Given the description of an element on the screen output the (x, y) to click on. 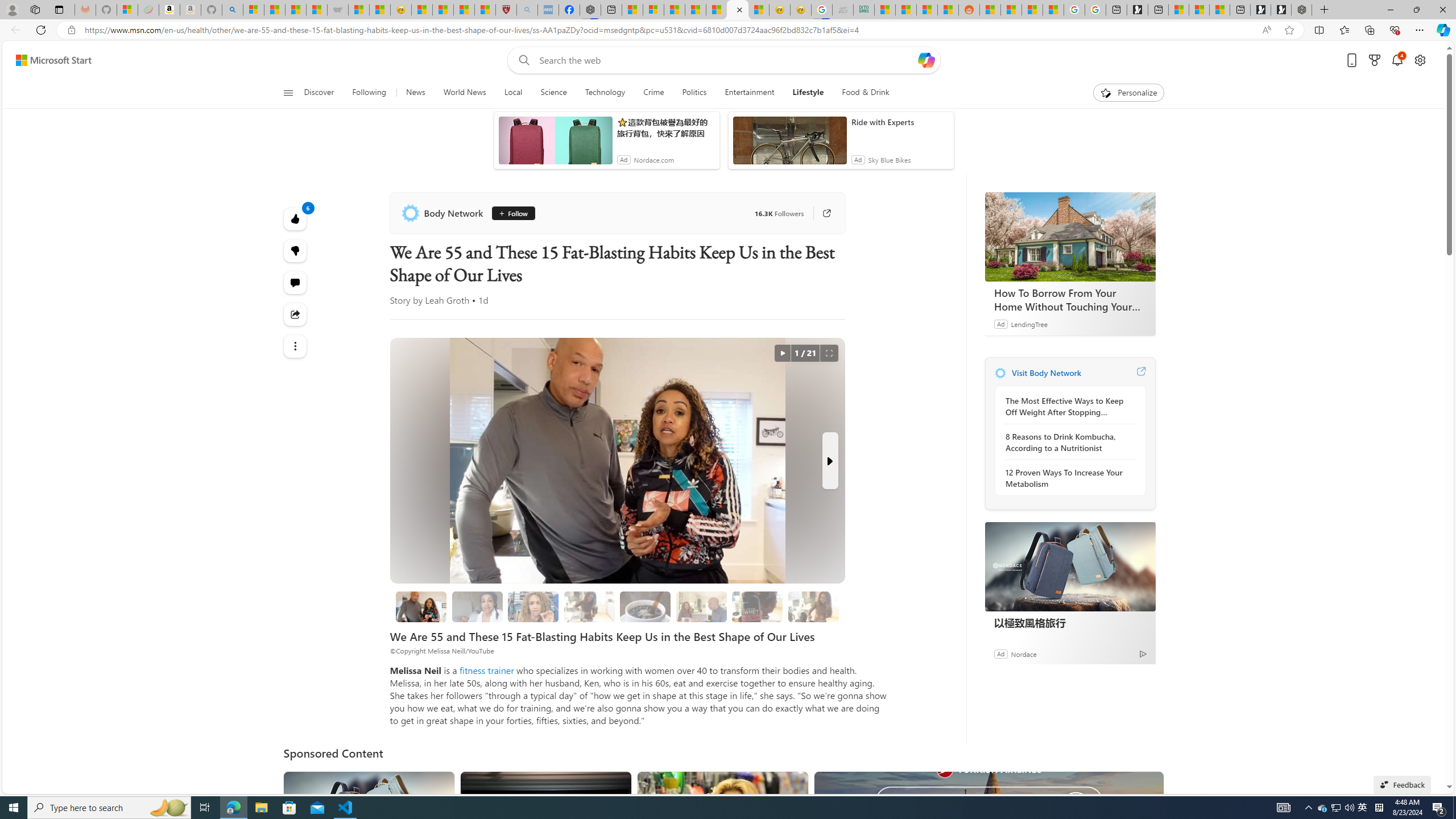
Class: at-item (295, 345)
Go to publisher's site (820, 213)
3 They Drink Lemon Tea (588, 606)
